Given the description of an element on the screen output the (x, y) to click on. 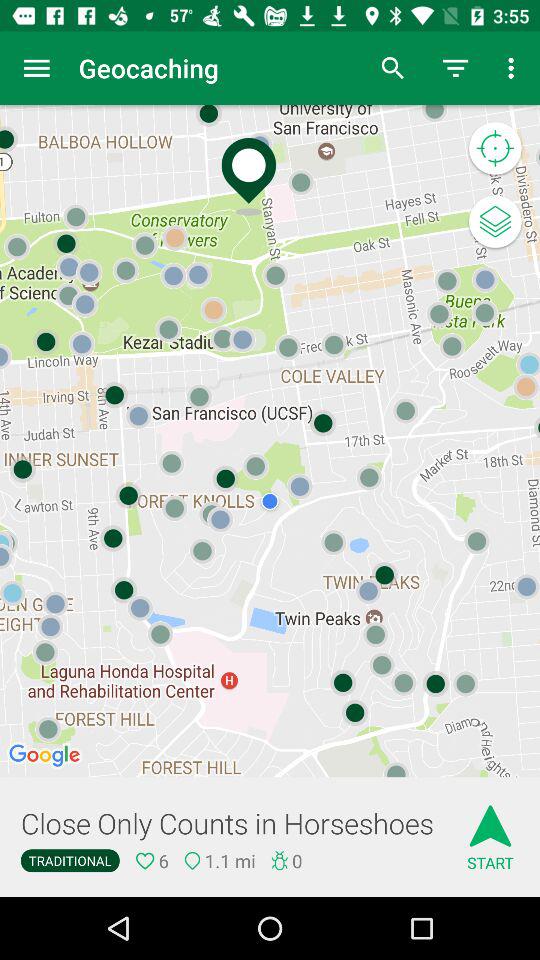
tap the icon next to geocaching (392, 67)
